Given the description of an element on the screen output the (x, y) to click on. 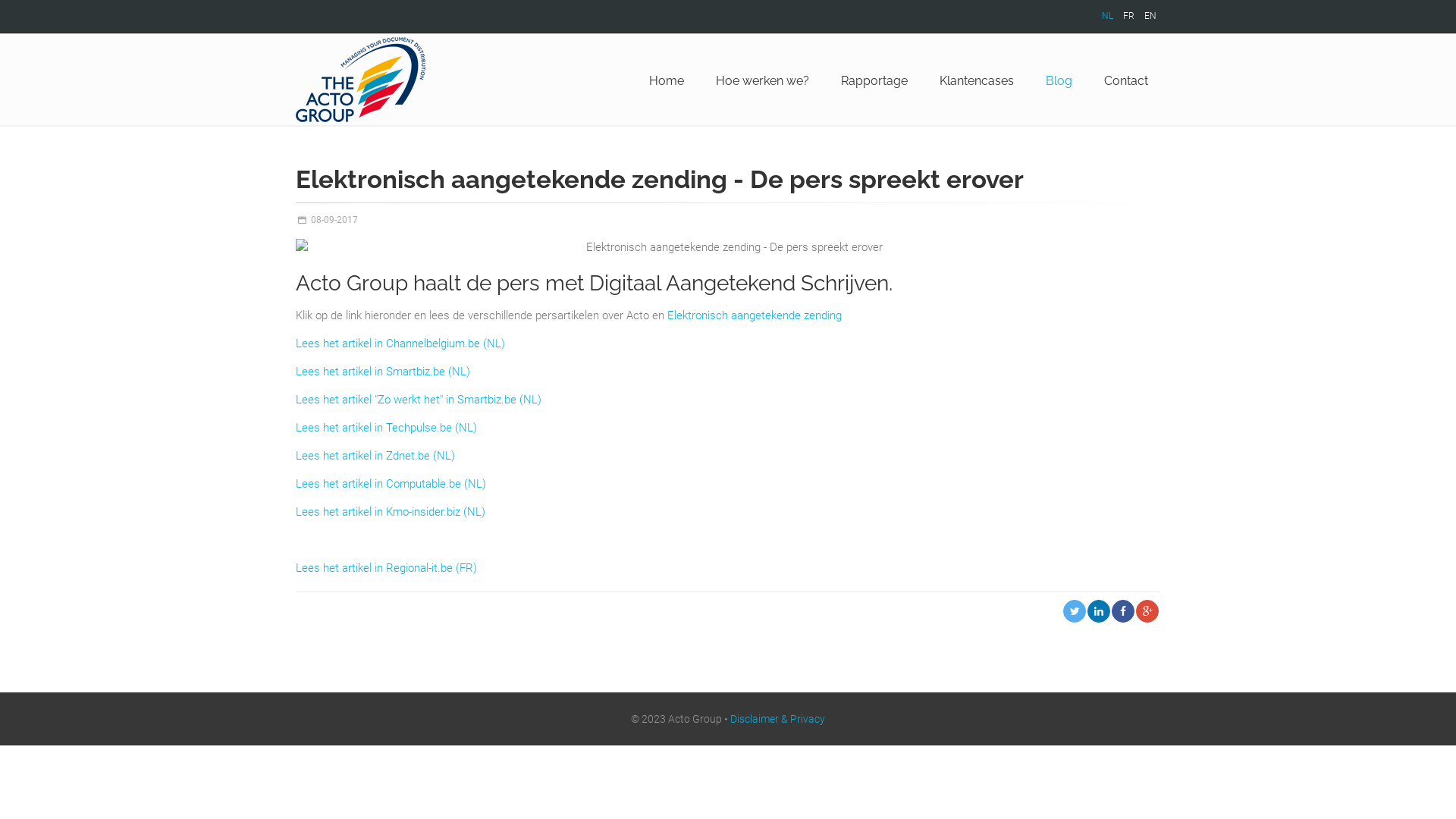
Lees het artikel in Channelbelgium.be (NL) Element type: text (400, 343)
Blog Element type: text (1058, 80)
Lees het artikel in Computable.be (NL) Element type: text (390, 483)
Lees het artikel in Zdnet.be (NL) Element type: text (375, 455)
Hoe werken we? Element type: text (762, 80)
Home Element type: text (666, 80)
Lees het artikel in Regional-it.be (FR) Element type: text (385, 567)
Klantencases Element type: text (976, 80)
FR Element type: text (1128, 15)
Contact Element type: text (1126, 80)
Disclaimer & Privacy Element type: text (777, 718)
Lees het artikel "Zo werkt het" in Smartbiz.be (NL) Element type: text (418, 399)
EN Element type: text (1150, 15)
Lees het artikel in Smartbiz.be (NL) Element type: text (382, 371)
Lees het artikel in Kmo-insider.biz (NL) Element type: text (390, 511)
Lees het artikel in Techpulse.be (NL) Element type: text (385, 427)
NL Element type: text (1107, 15)
Elektronisch aangetekende zending Element type: text (754, 315)
Rapportage Element type: text (873, 80)
